Given the description of an element on the screen output the (x, y) to click on. 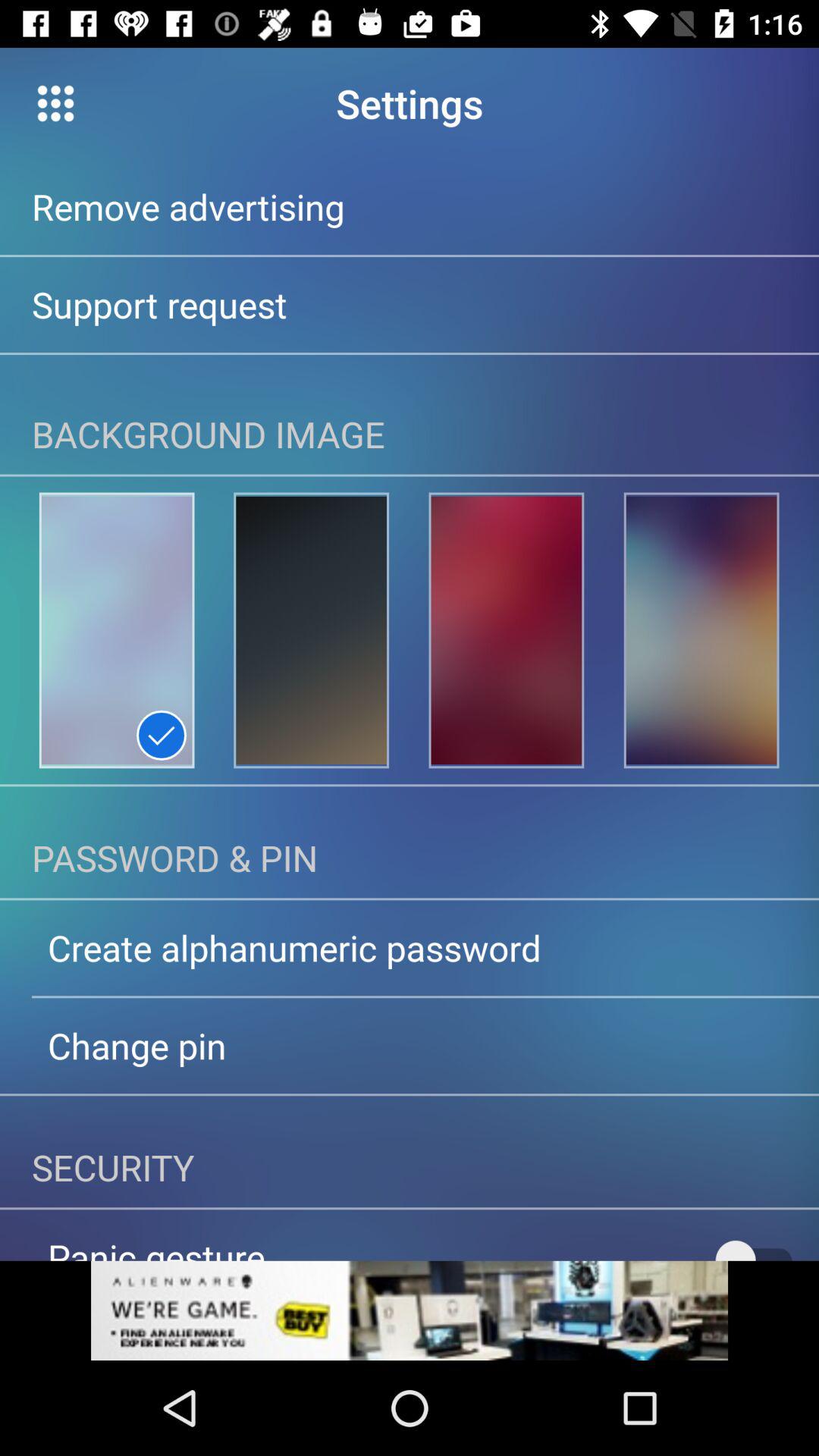
select background image (701, 630)
